Given the description of an element on the screen output the (x, y) to click on. 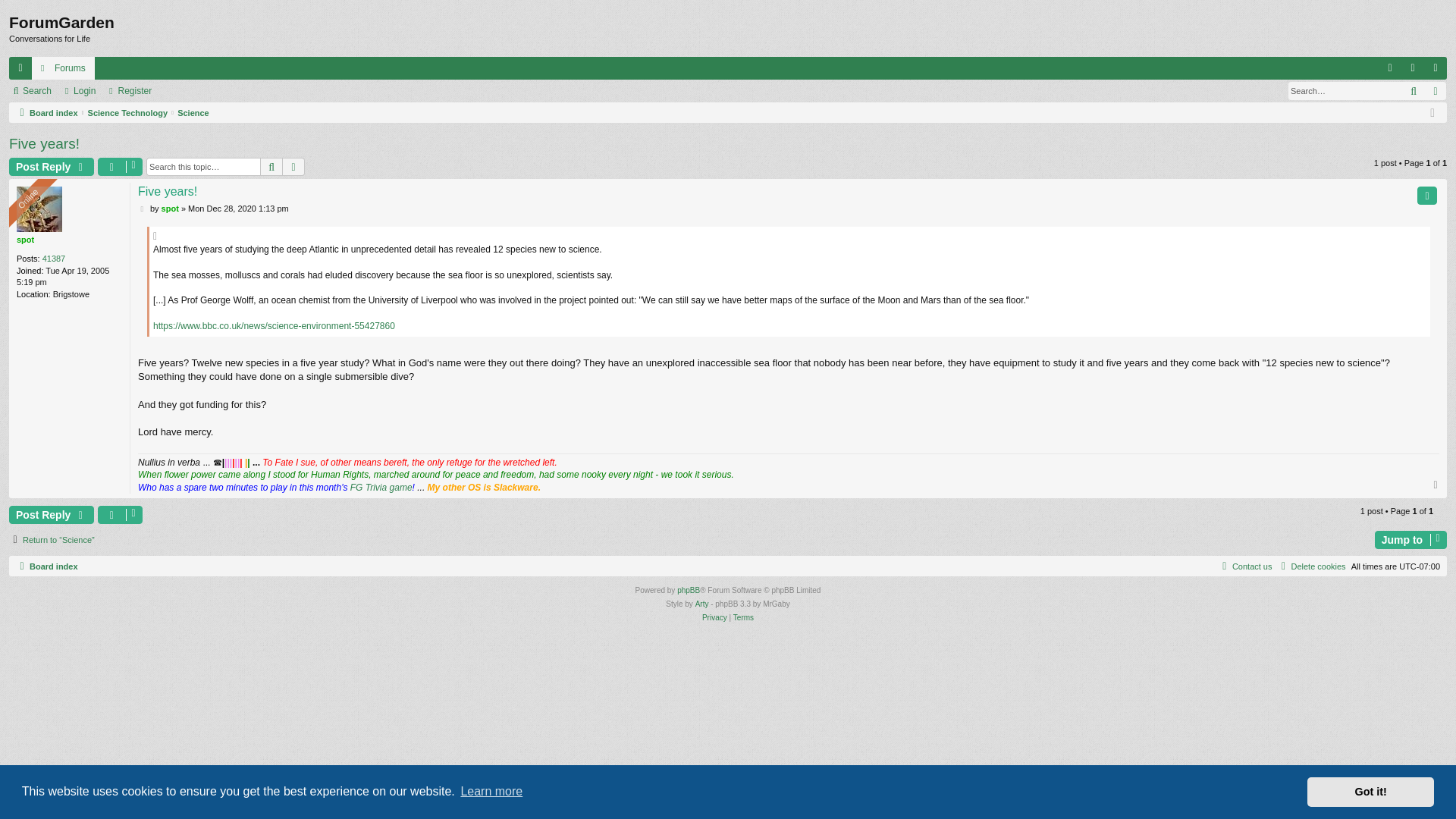
Search (271, 167)
Forums (63, 67)
Five years! (44, 144)
Quick links (20, 67)
Login (80, 90)
Got it! (1370, 791)
Five years! (167, 191)
FAQ (1389, 67)
FAQ (1389, 67)
Science  Technology (127, 112)
